Given the description of an element on the screen output the (x, y) to click on. 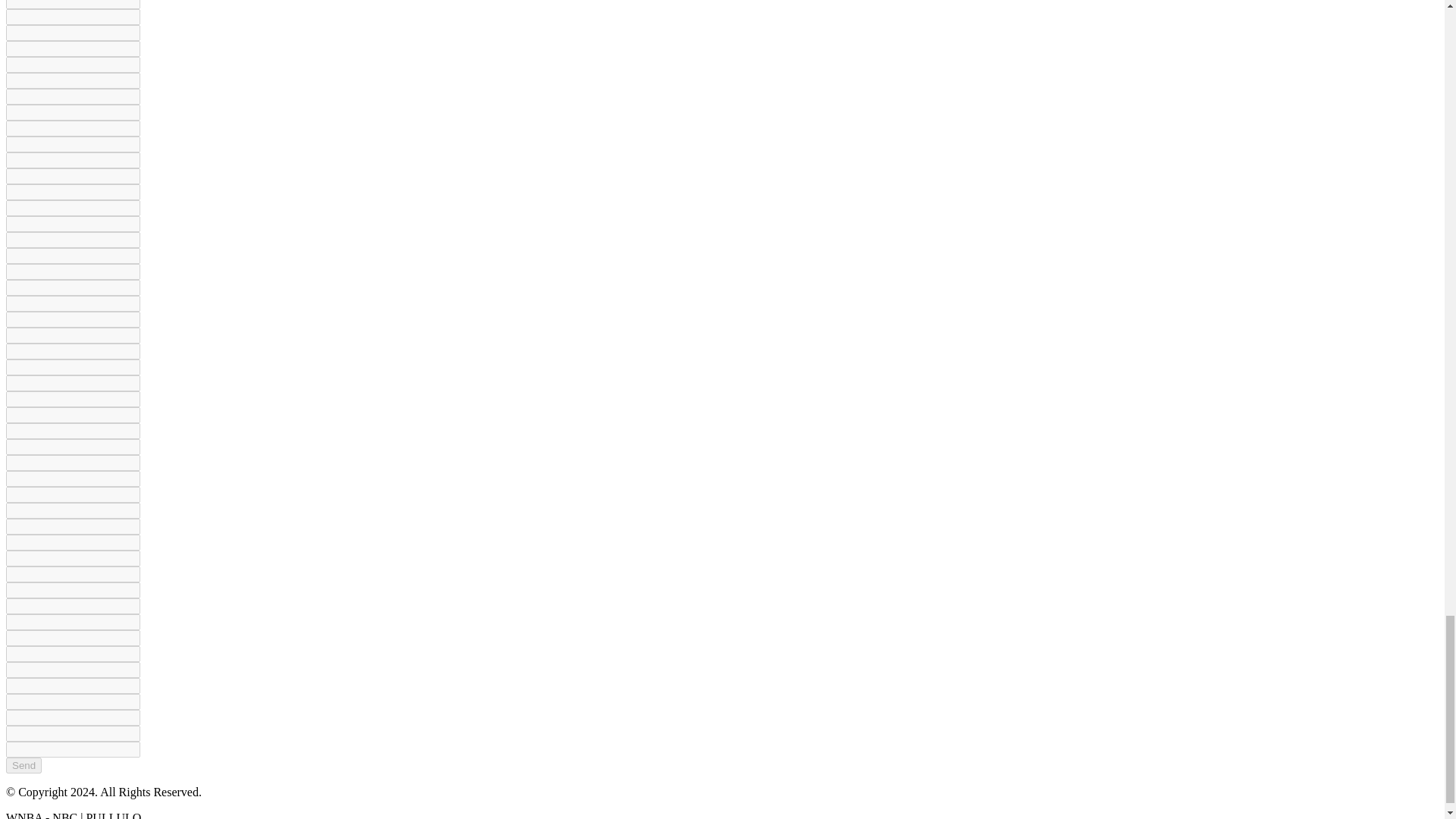
Send (23, 765)
